Given the description of an element on the screen output the (x, y) to click on. 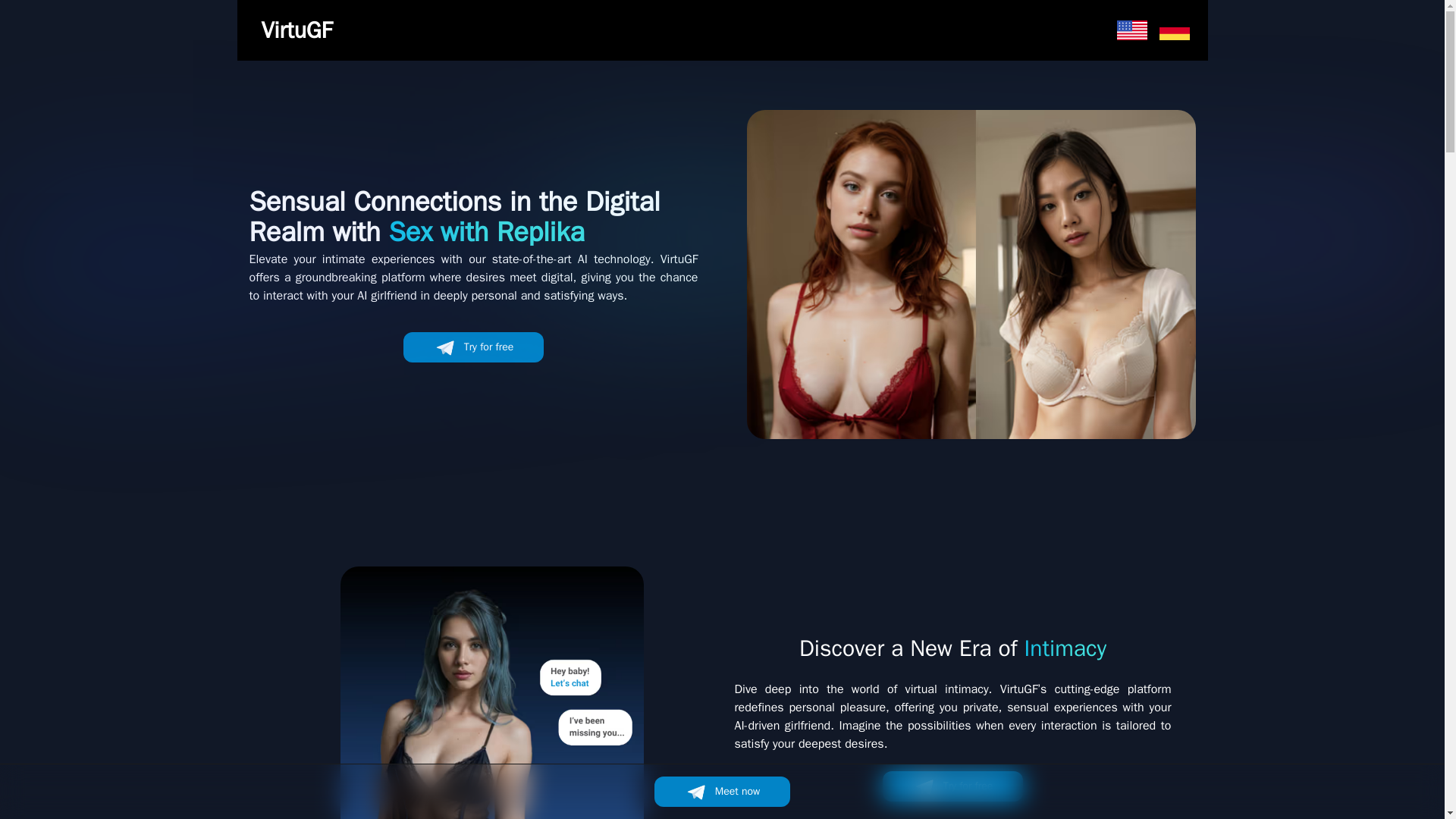
Try for free (473, 347)
VirtuGF (295, 29)
AI girlfriend (491, 692)
Try for free (952, 786)
